Given the description of an element on the screen output the (x, y) to click on. 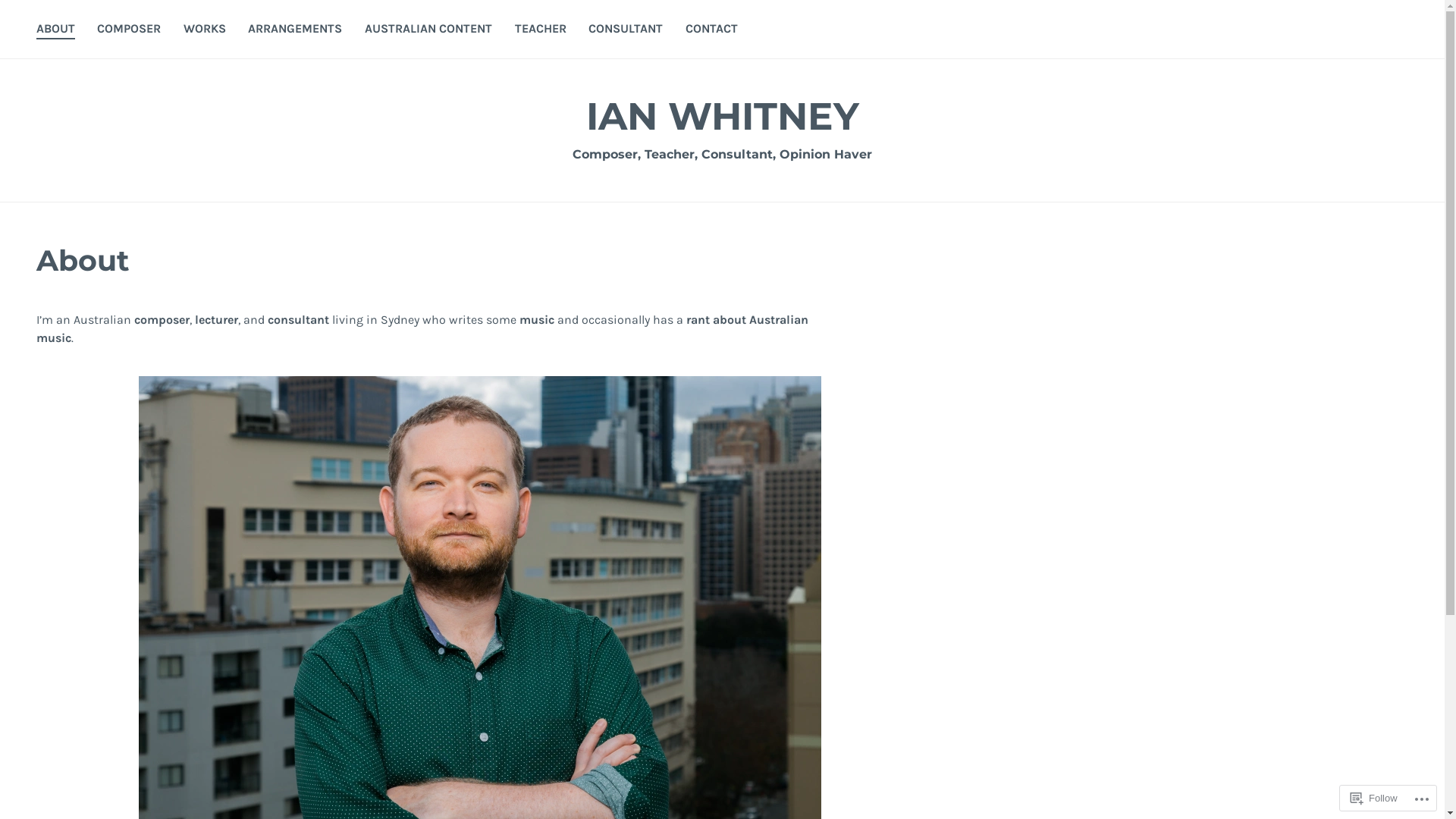
rant about Australian music Element type: text (422, 329)
WORKS Element type: text (204, 29)
TEACHER Element type: text (540, 29)
consultant Element type: text (298, 320)
IAN WHITNEY Element type: text (721, 116)
ARRANGEMENTS Element type: text (294, 29)
CONSULTANT Element type: text (625, 29)
lecturer Element type: text (216, 320)
music Element type: text (536, 320)
CONTACT Element type: text (711, 29)
ABOUT Element type: text (55, 29)
COMPOSER Element type: text (128, 29)
Follow Element type: text (1373, 797)
AUSTRALIAN CONTENT Element type: text (428, 29)
composer Element type: text (161, 320)
